Given the description of an element on the screen output the (x, y) to click on. 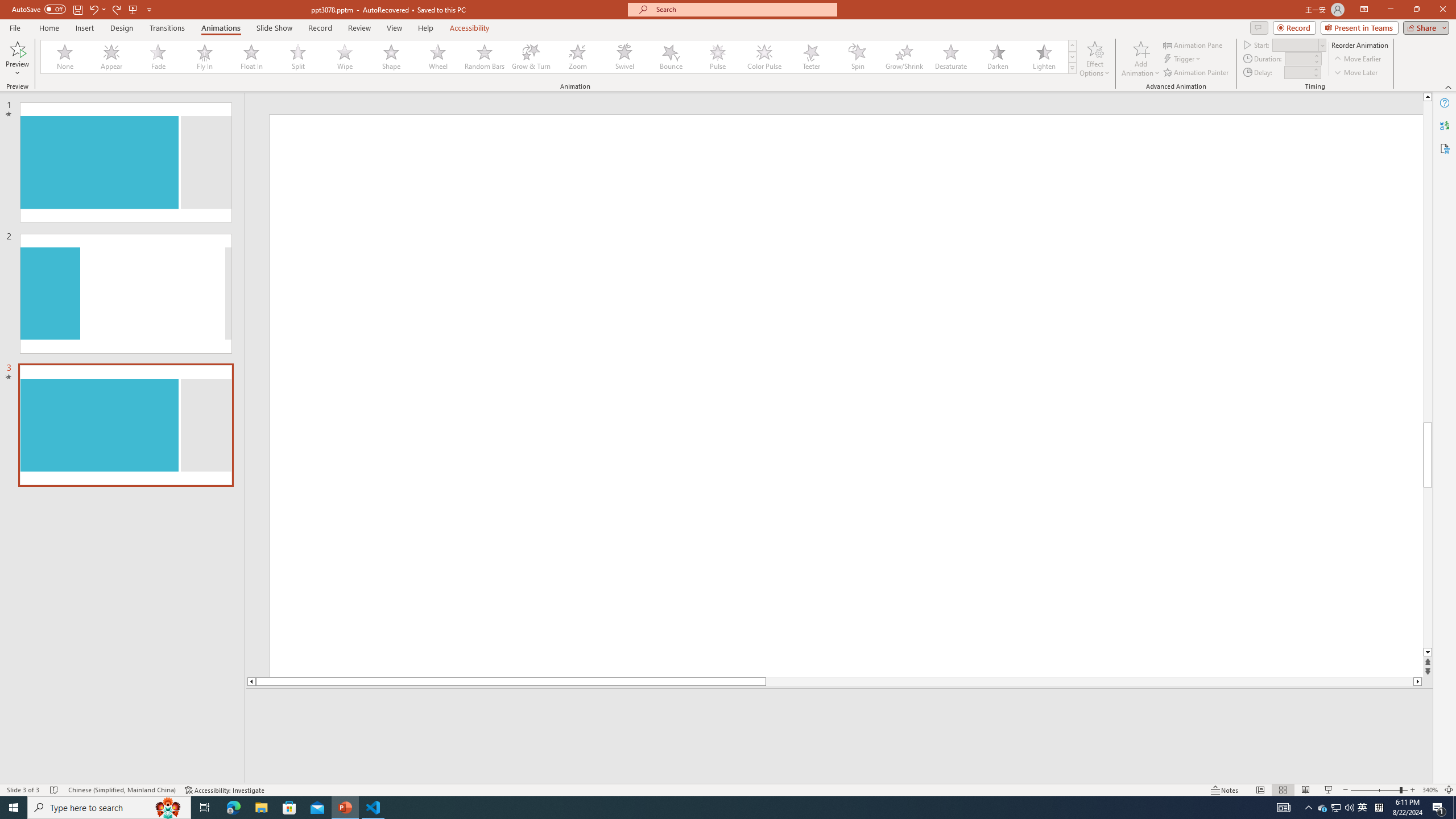
Shape (391, 56)
Spin (857, 56)
Wheel (437, 56)
